Given the description of an element on the screen output the (x, y) to click on. 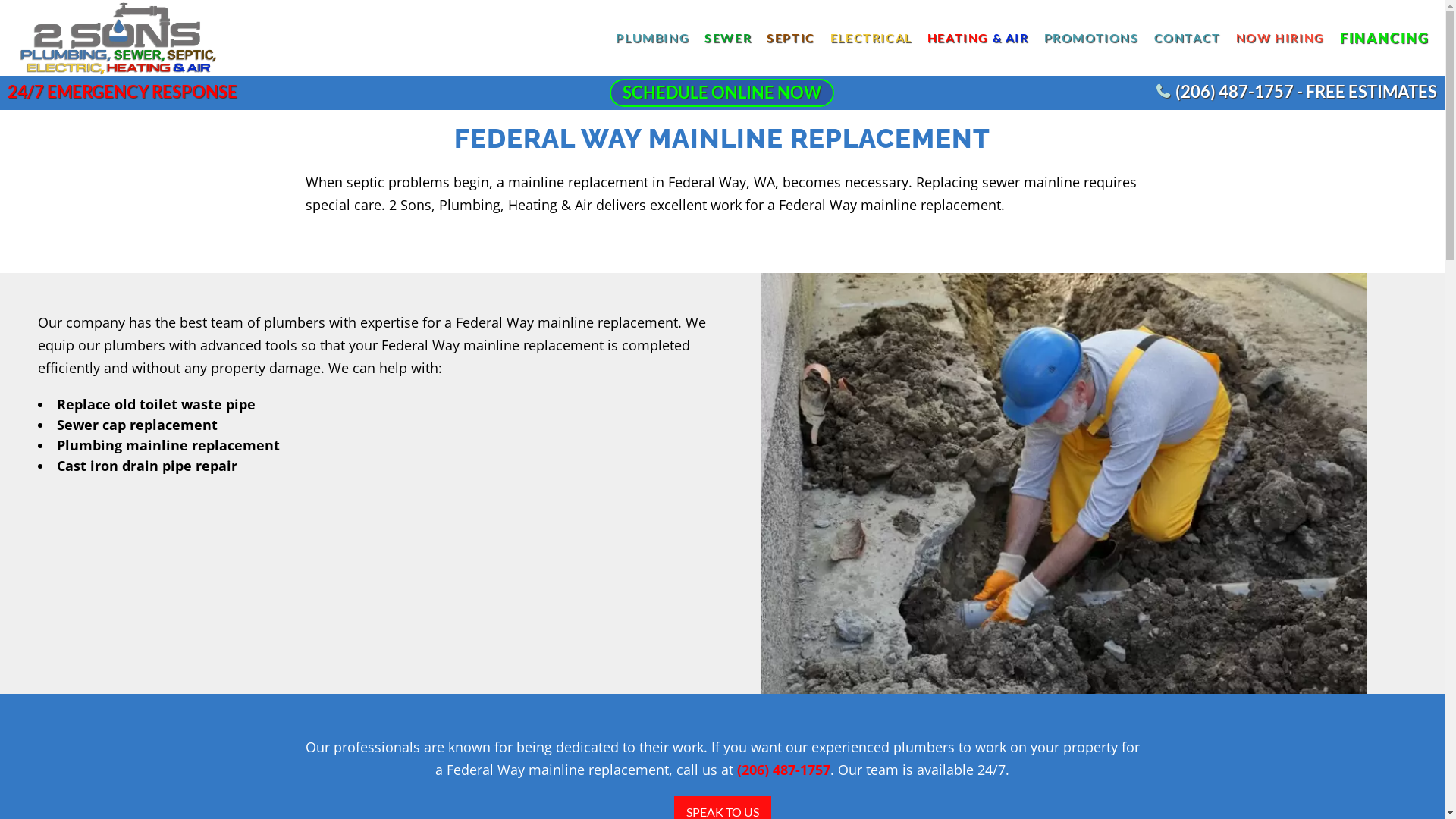
SEPTIC Element type: text (790, 37)
PLUMBING Element type: text (652, 37)
SEWER Element type: text (727, 37)
CONTACT Element type: text (1187, 37)
PROMOTIONS Element type: text (1091, 37)
NOW HIRING Element type: text (1280, 37)
FINANCING Element type: text (1384, 37)
(206) 487-1757 - FREE ESTIMATES Element type: text (1296, 91)
HEATING & AIR Element type: text (978, 37)
SCHEDULE ONLINE NOW Element type: text (721, 92)
ELECTRICAL Element type: text (871, 37)
